Given the description of an element on the screen output the (x, y) to click on. 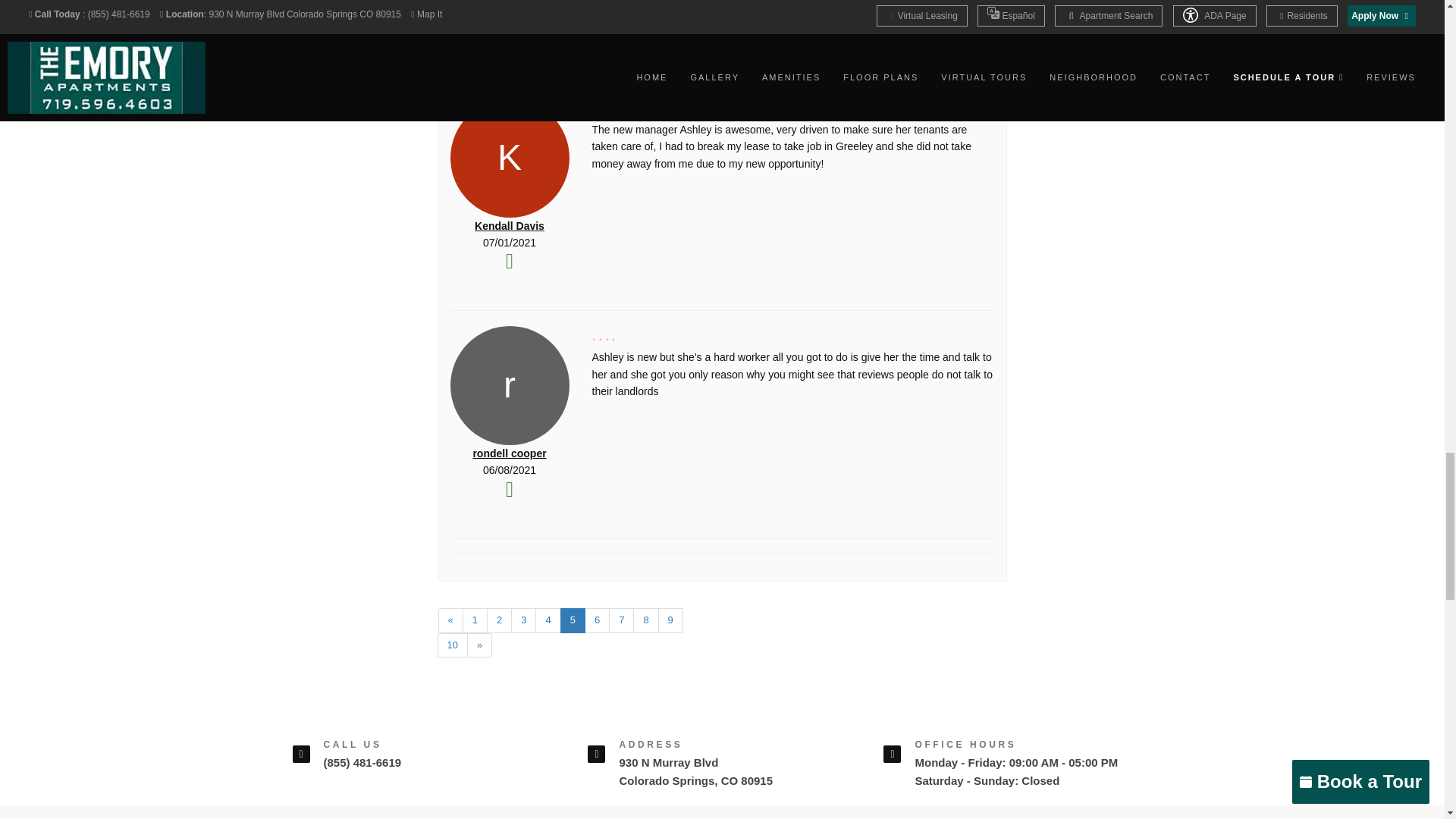
Diaz Advertising (508, 2)
4 (547, 620)
Kendall Davis (509, 225)
3 (523, 620)
2 (499, 620)
1 (475, 620)
rondell cooper (508, 453)
